Given the description of an element on the screen output the (x, y) to click on. 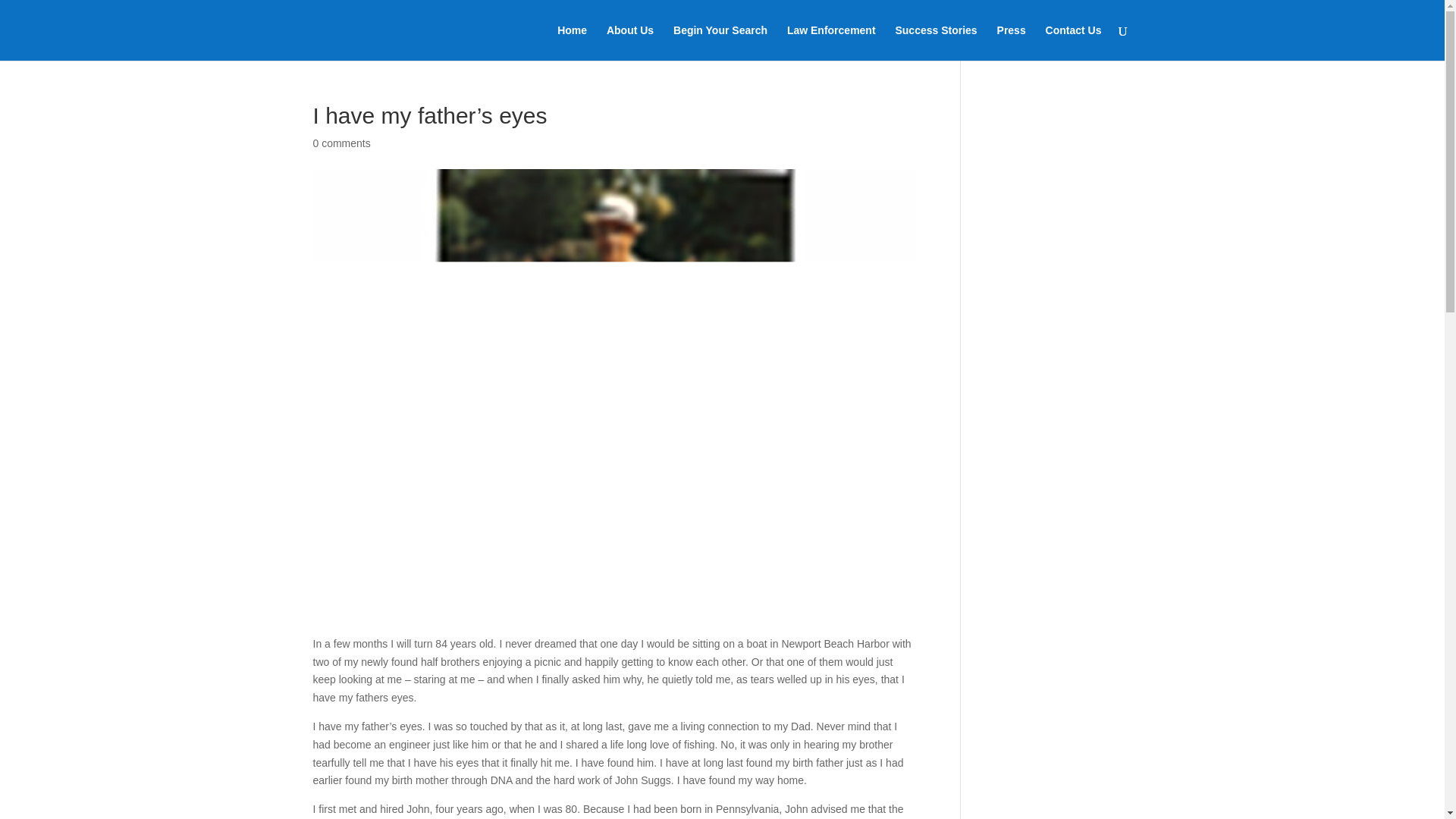
Law Enforcement (831, 42)
Contact Us (1073, 42)
0 comments (341, 143)
Begin Your Search (719, 42)
About Us (630, 42)
Success Stories (935, 42)
